Given the description of an element on the screen output the (x, y) to click on. 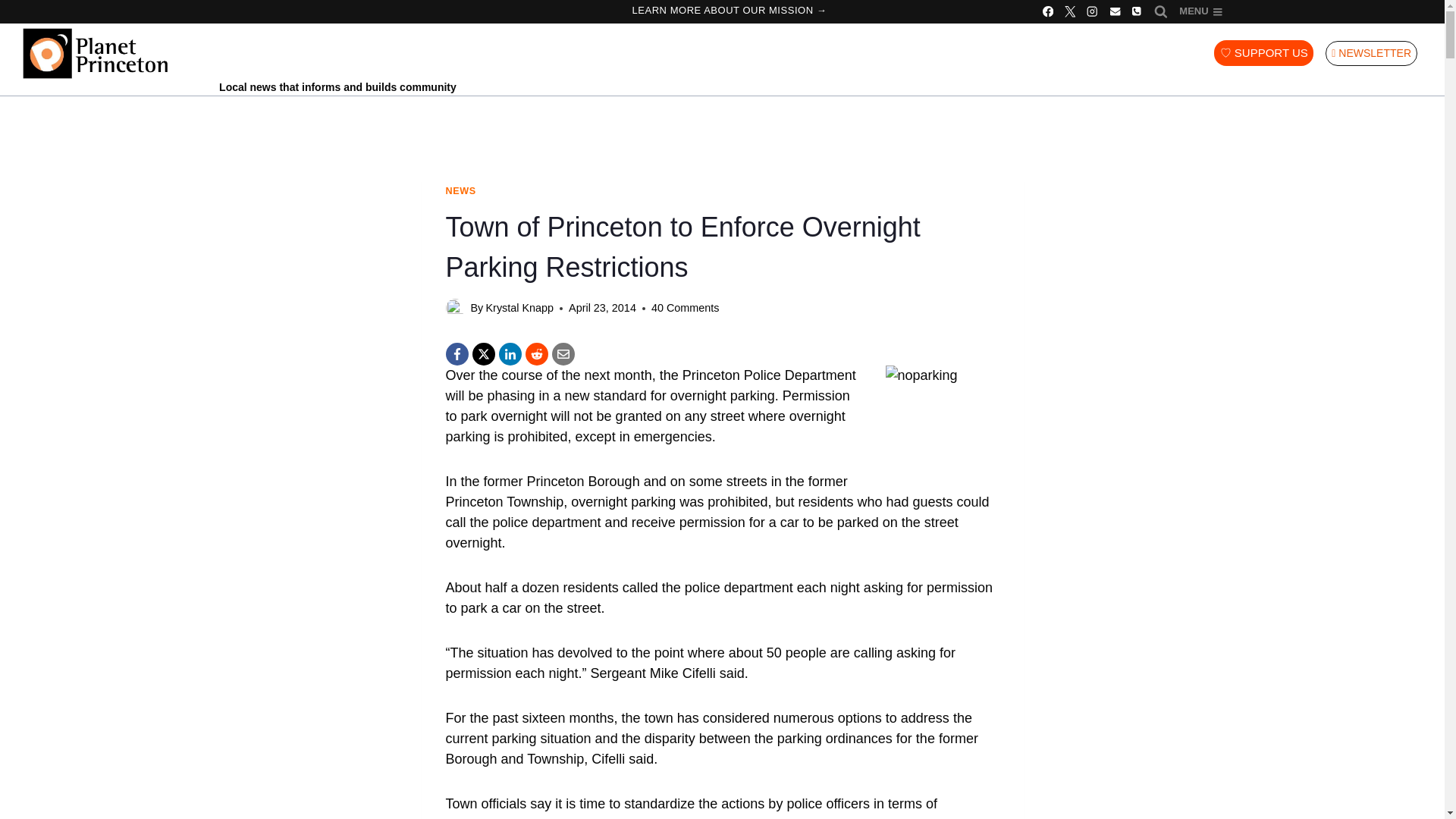
40 Comments (684, 308)
40 Comments (684, 308)
Krystal Knapp (518, 307)
NEWS (460, 190)
MENU (1199, 11)
